Given the description of an element on the screen output the (x, y) to click on. 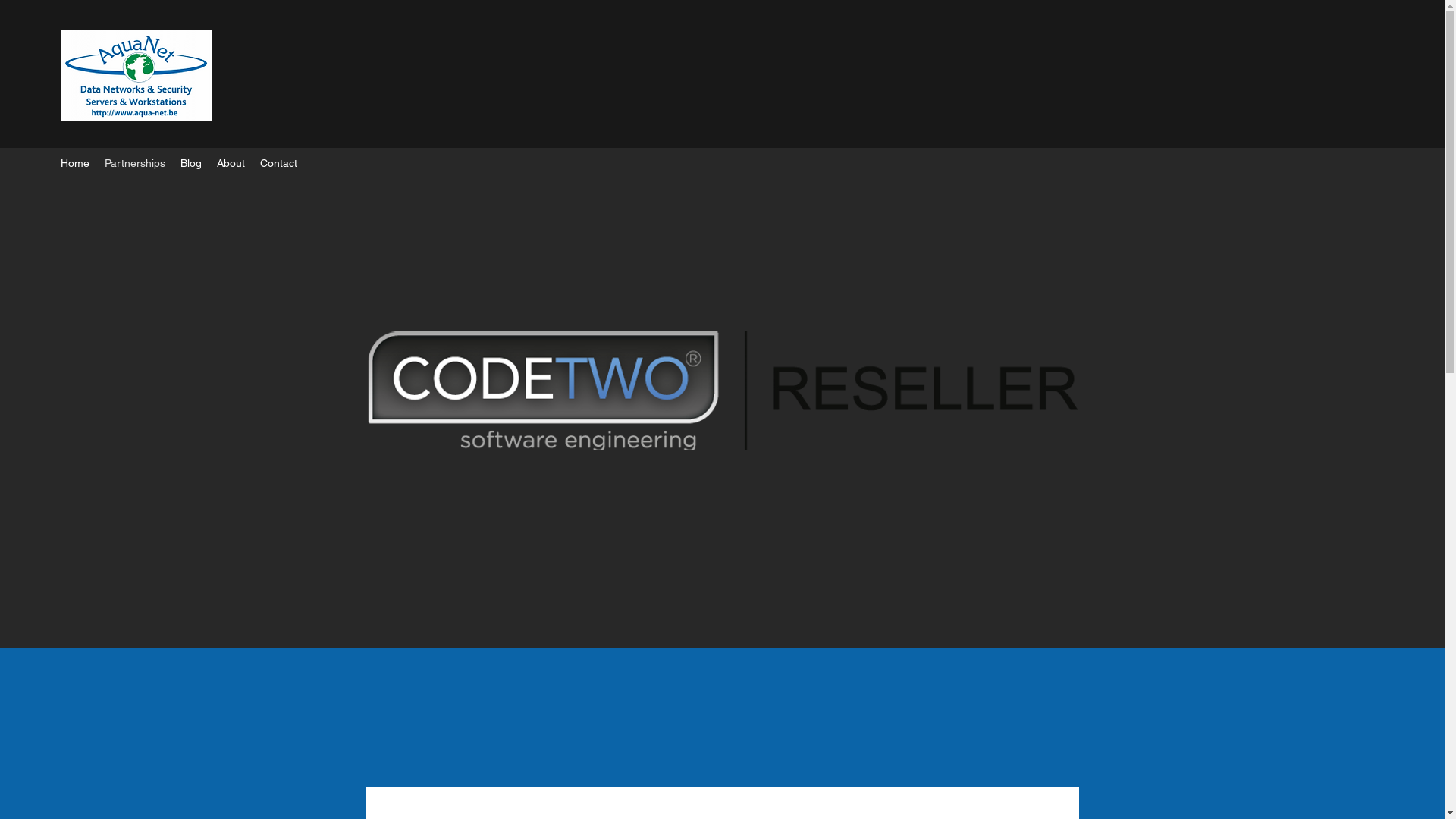
Contact Element type: text (278, 162)
About Element type: text (230, 162)
Blog Element type: text (190, 162)
Partnerships Element type: text (134, 162)
Home Element type: text (75, 162)
